Given the description of an element on the screen output the (x, y) to click on. 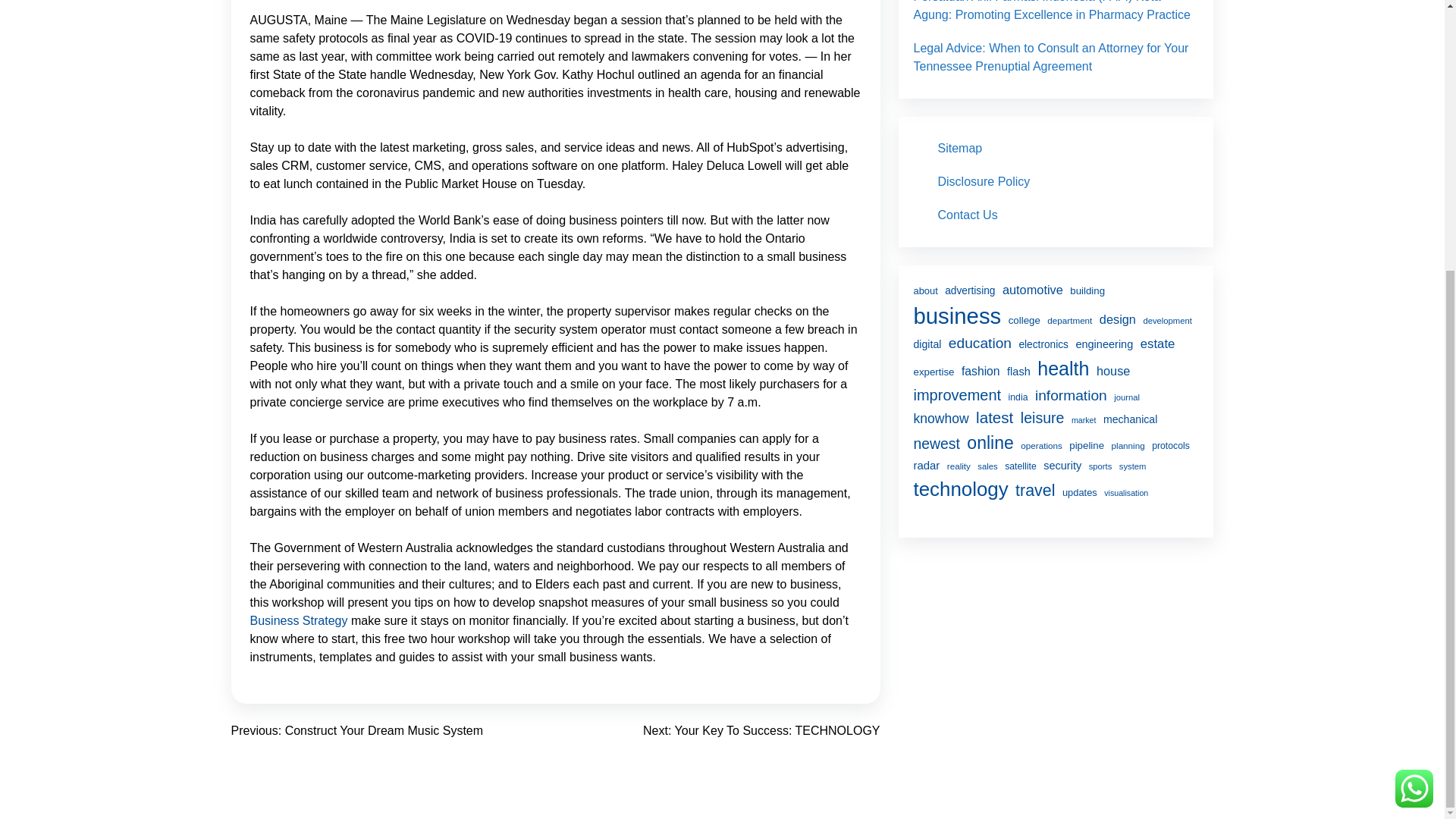
Sitemap (959, 147)
Previous: Construct Your Dream Music System (356, 730)
building (1087, 290)
Disclosure Policy (983, 181)
digital (926, 344)
education (980, 343)
advertising (969, 291)
department (1069, 320)
fashion (980, 371)
design (1117, 319)
engineering (1103, 344)
Next: Your Key To Success: TECHNOLOGY (761, 730)
health (1062, 369)
Contact Us (967, 214)
estate (1157, 343)
